Given the description of an element on the screen output the (x, y) to click on. 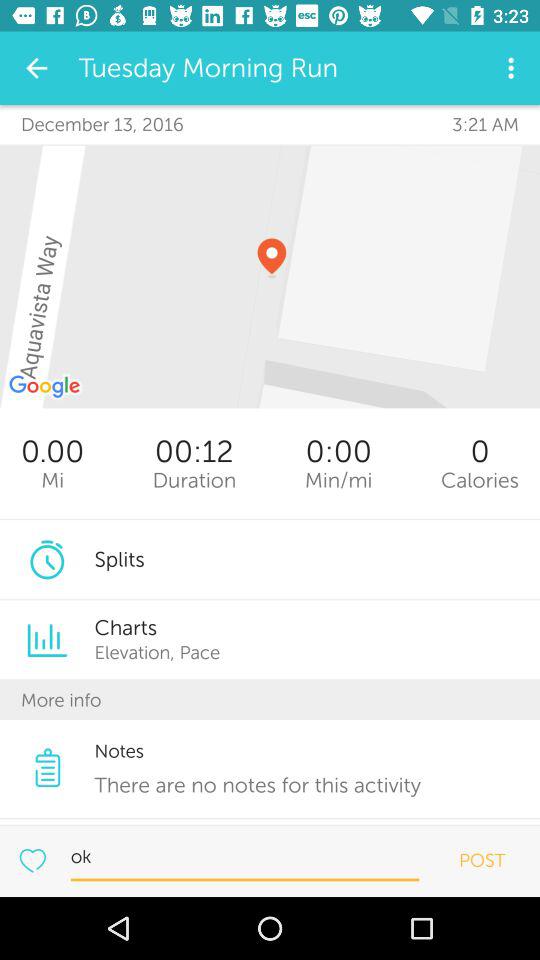
favorite the run (32, 860)
